Given the description of an element on the screen output the (x, y) to click on. 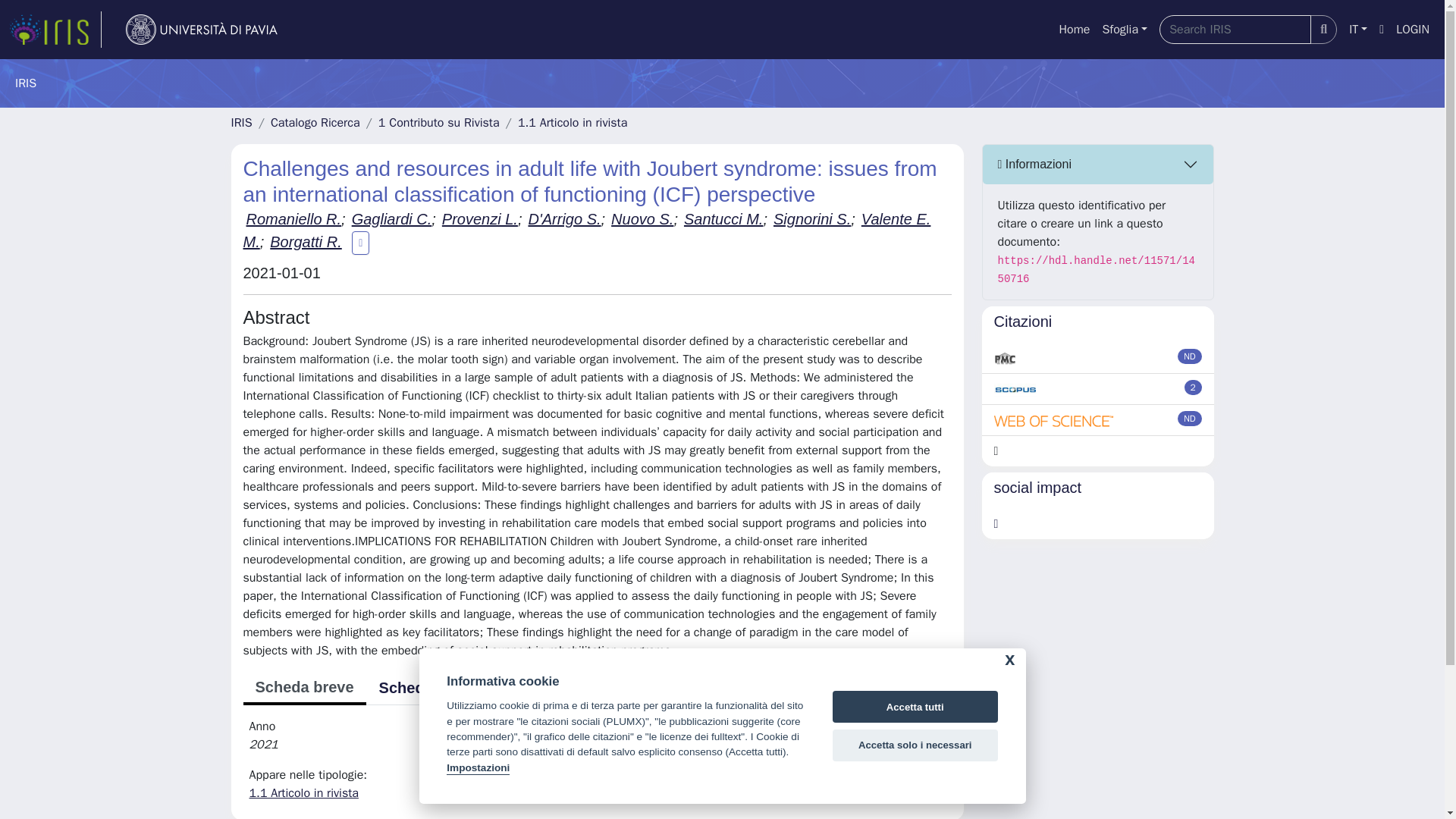
IT (1357, 29)
LOGIN (1412, 29)
aggiornato in data 29-06-2024 19:27 (1193, 387)
Santucci M. (723, 218)
1 Contributo su Rivista (438, 122)
D'Arrigo S. (563, 218)
1.1 Articolo in rivista (572, 122)
Provenzi L. (480, 218)
Romaniello R. (293, 218)
Scheda breve (304, 688)
Scheda completa (441, 687)
Gagliardi C. (392, 218)
Home (1074, 29)
1.1 Articolo in rivista (303, 792)
Borgatti R. (304, 241)
